Given the description of an element on the screen output the (x, y) to click on. 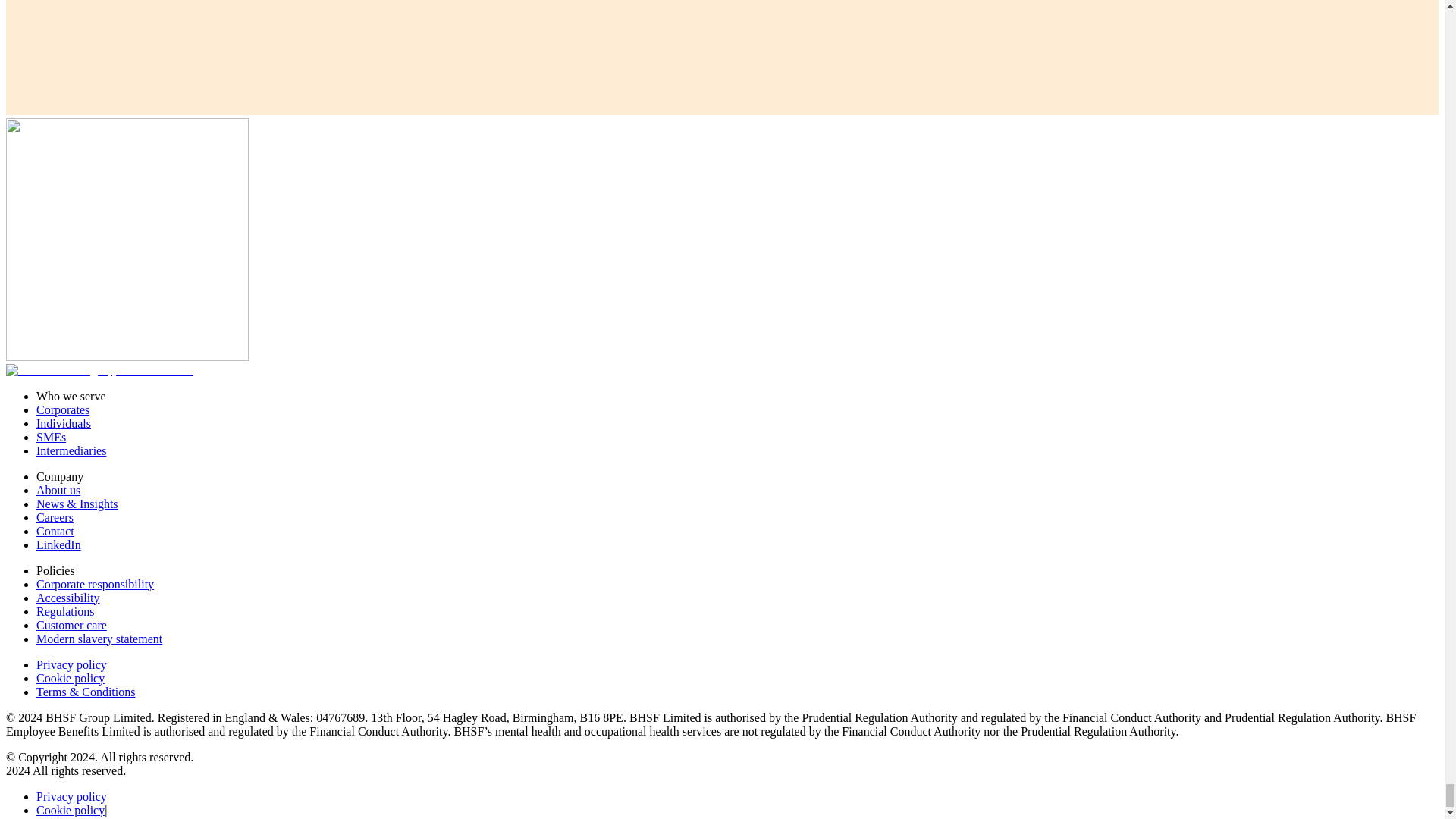
About us (58, 490)
SMEs (50, 436)
LinkedIn (58, 544)
Contact (55, 530)
Intermediaries (71, 450)
Corporate responsibility (95, 584)
Careers (55, 517)
Accessibility (68, 597)
Corporates (62, 409)
Individuals (63, 422)
